Given the description of an element on the screen output the (x, y) to click on. 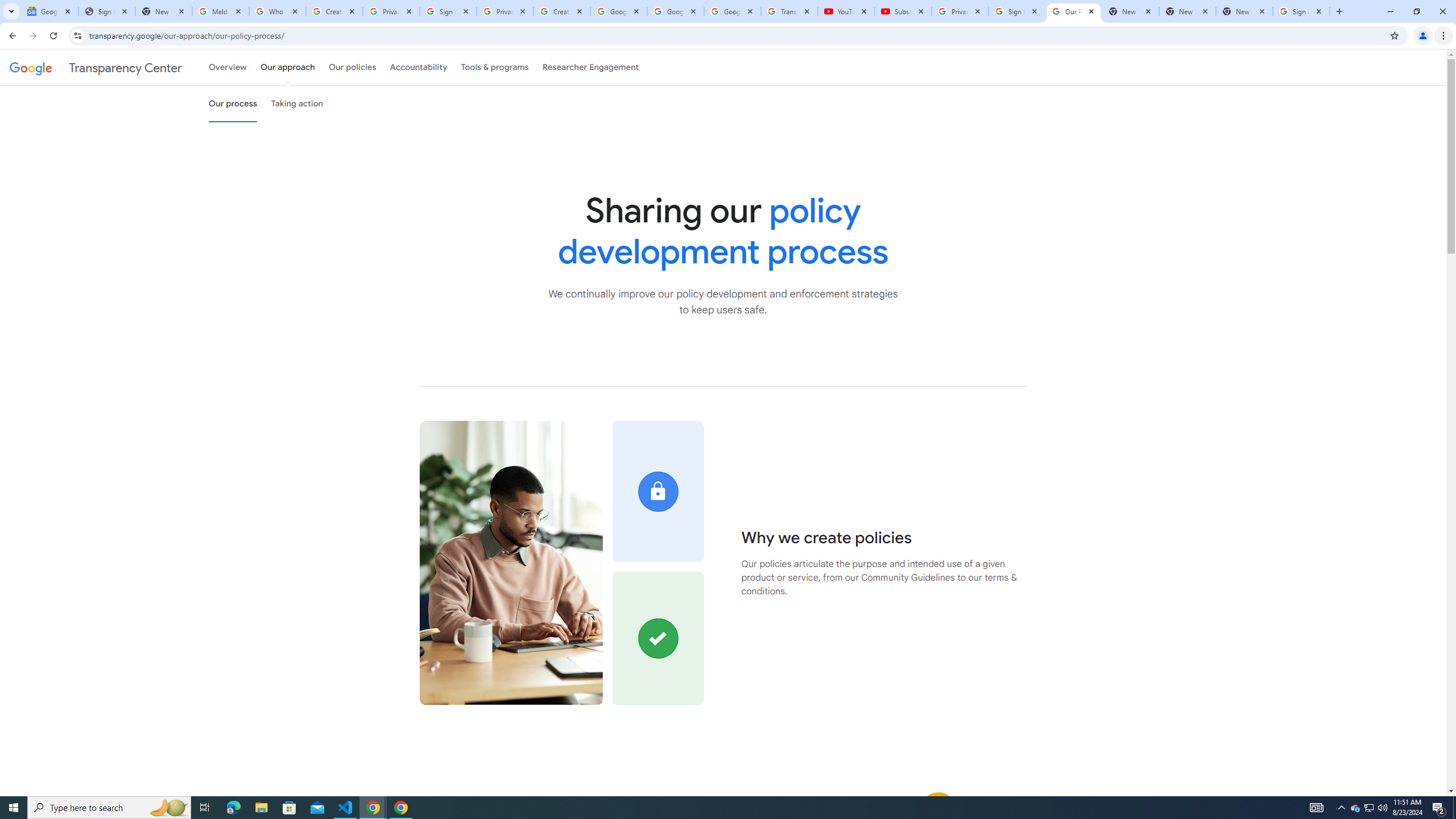
Sign in - Google Accounts (1301, 11)
Sign in - Google Accounts (447, 11)
Who is my administrator? - Google Account Help (277, 11)
Sign in - Google Accounts (1015, 11)
Create your Google Account (334, 11)
Sign In - USA TODAY (105, 11)
